Given the description of an element on the screen output the (x, y) to click on. 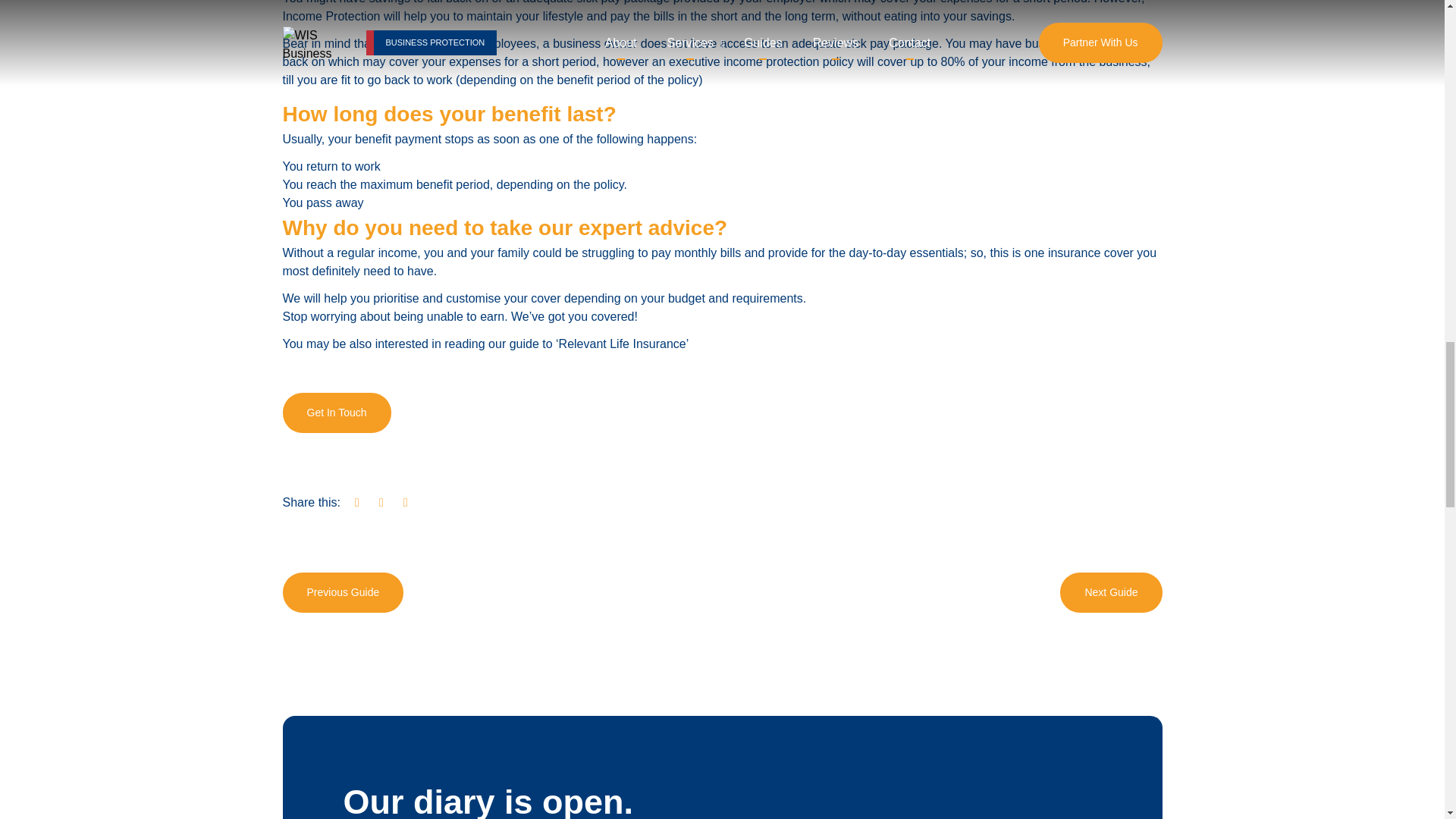
Relevant Life Insurance (622, 343)
Next Guide (1110, 592)
Get In Touch (336, 413)
Previous Guide (342, 592)
